Given the description of an element on the screen output the (x, y) to click on. 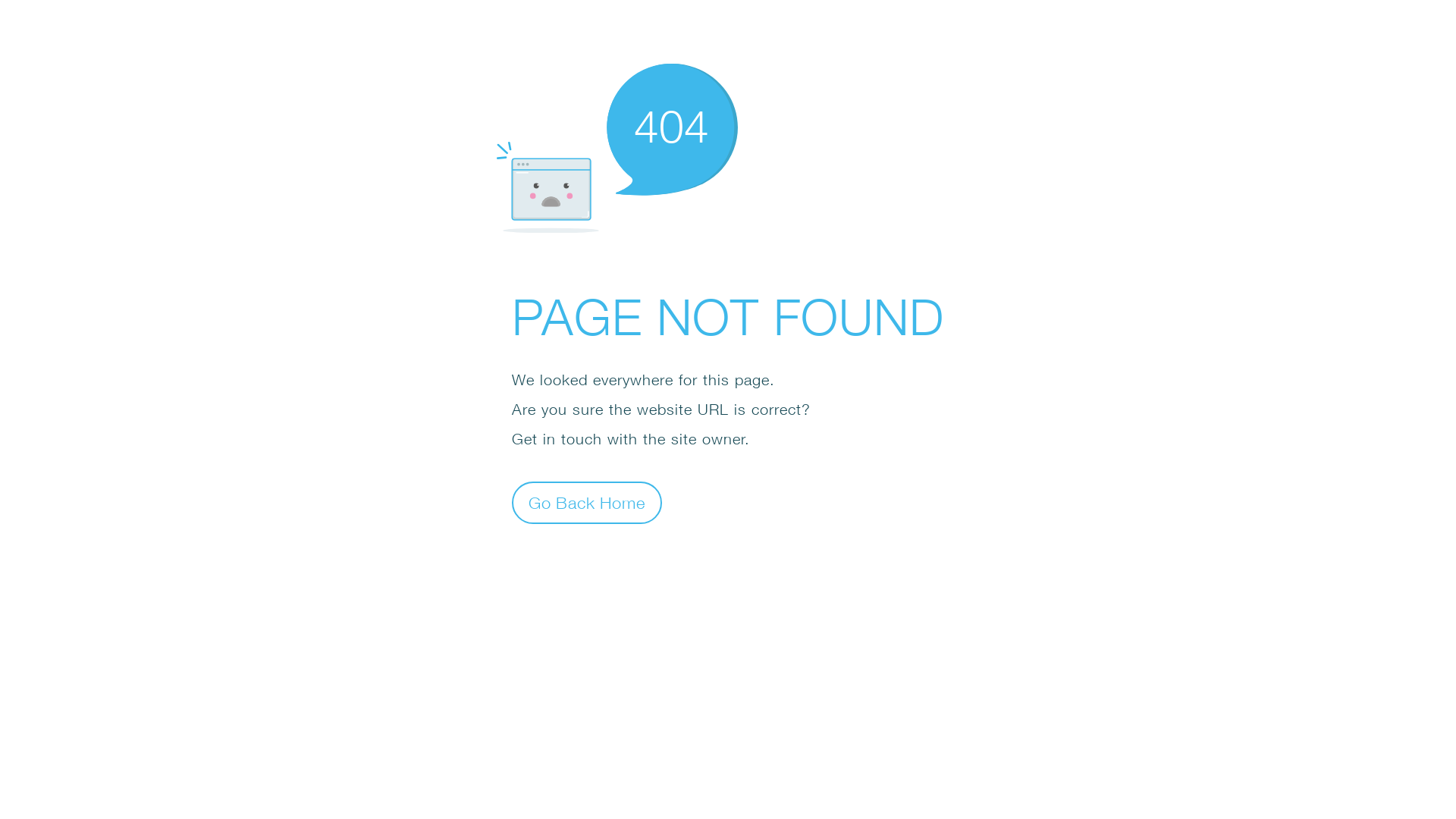
Go Back Home Element type: text (586, 502)
